Given the description of an element on the screen output the (x, y) to click on. 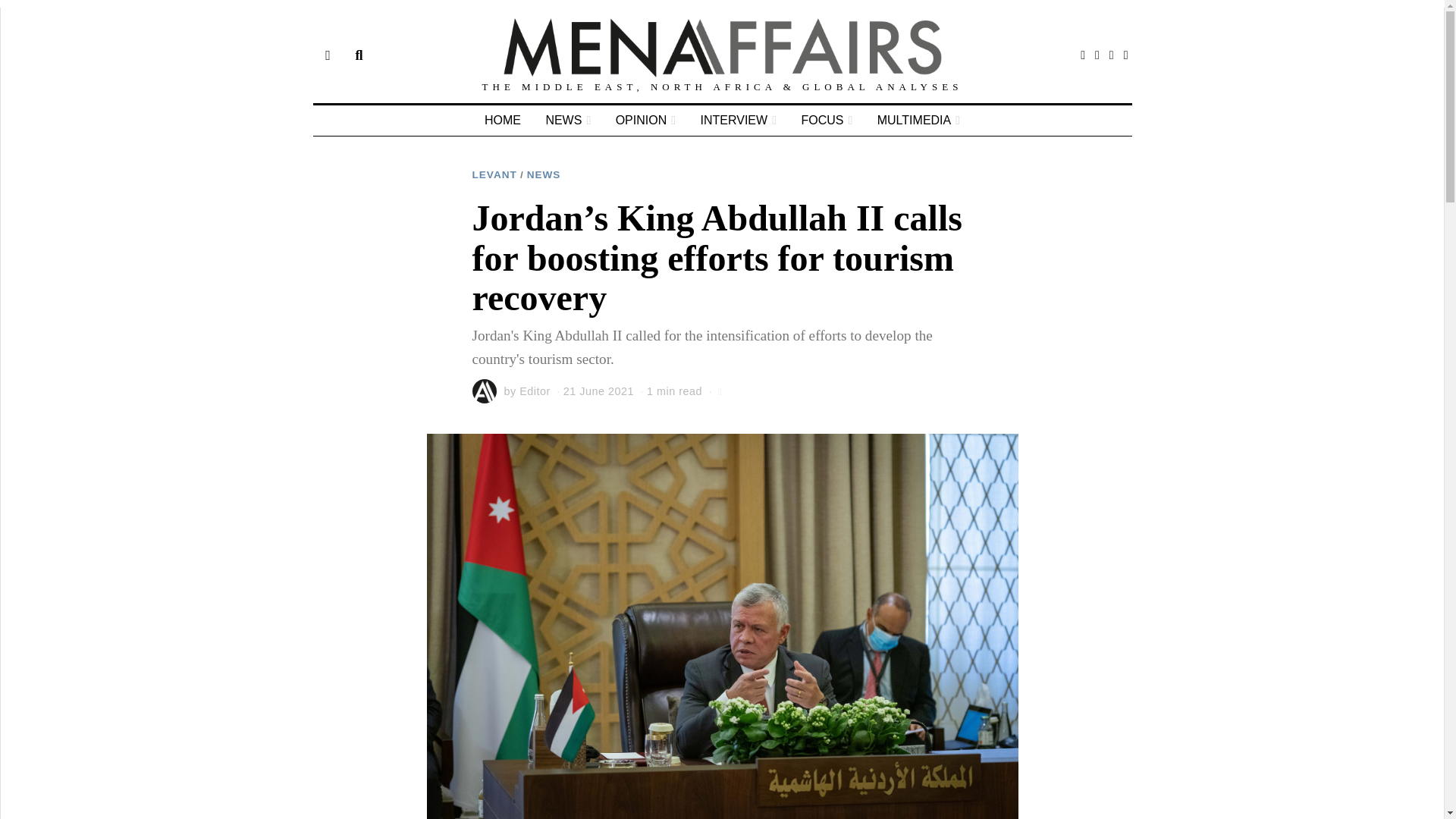
INTERVIEW (738, 120)
MULTIMEDIA (918, 120)
Instagram (1111, 54)
Twitter (1096, 54)
YouTube (1125, 54)
Editor (534, 390)
FOCUS (826, 120)
OPINION (645, 120)
Facebook (1083, 54)
NEWS (567, 120)
HOME (502, 120)
LEVANT (493, 174)
NEWS (543, 174)
